Given the description of an element on the screen output the (x, y) to click on. 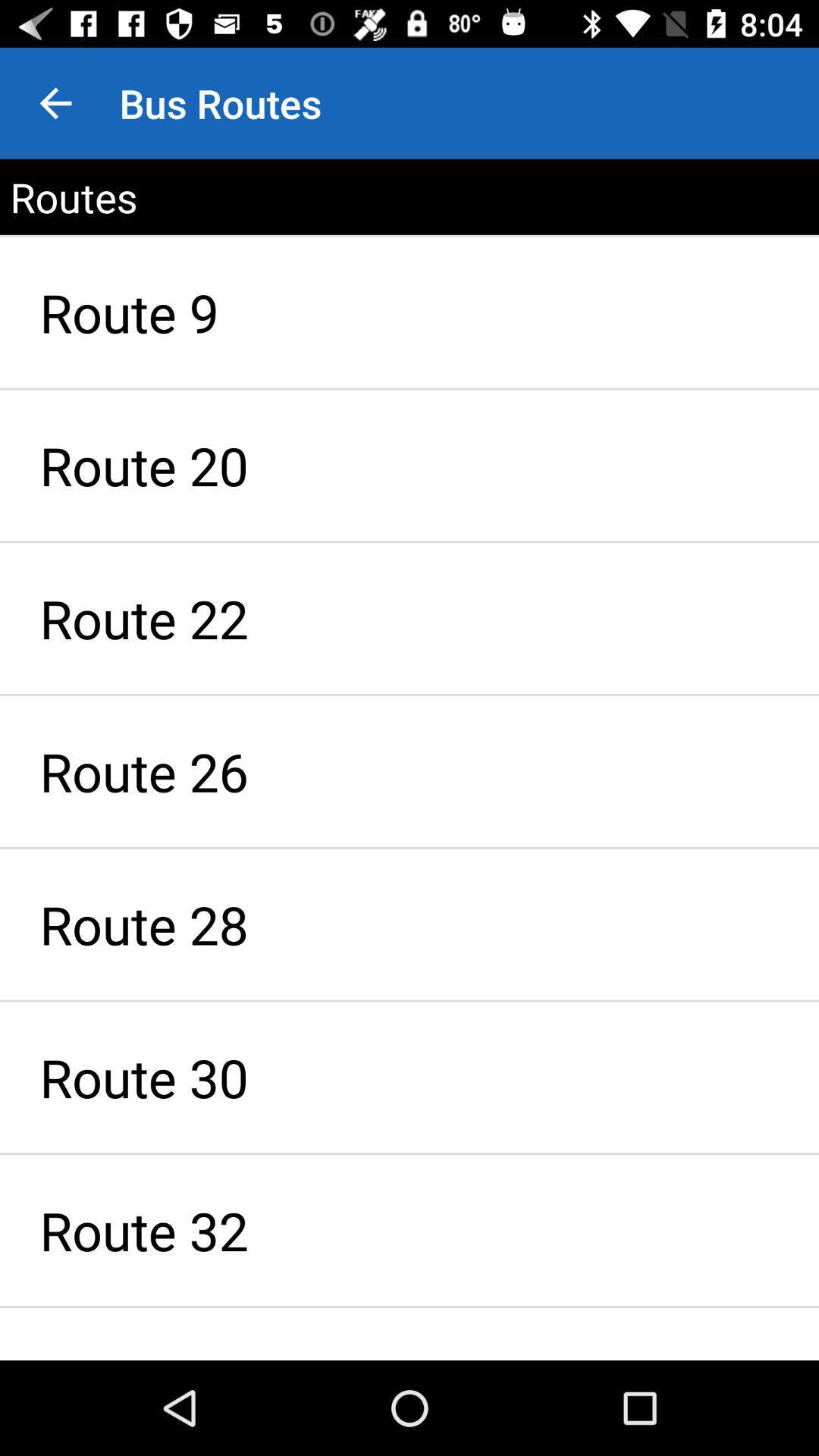
click the icon above the route 30 (409, 924)
